Given the description of an element on the screen output the (x, y) to click on. 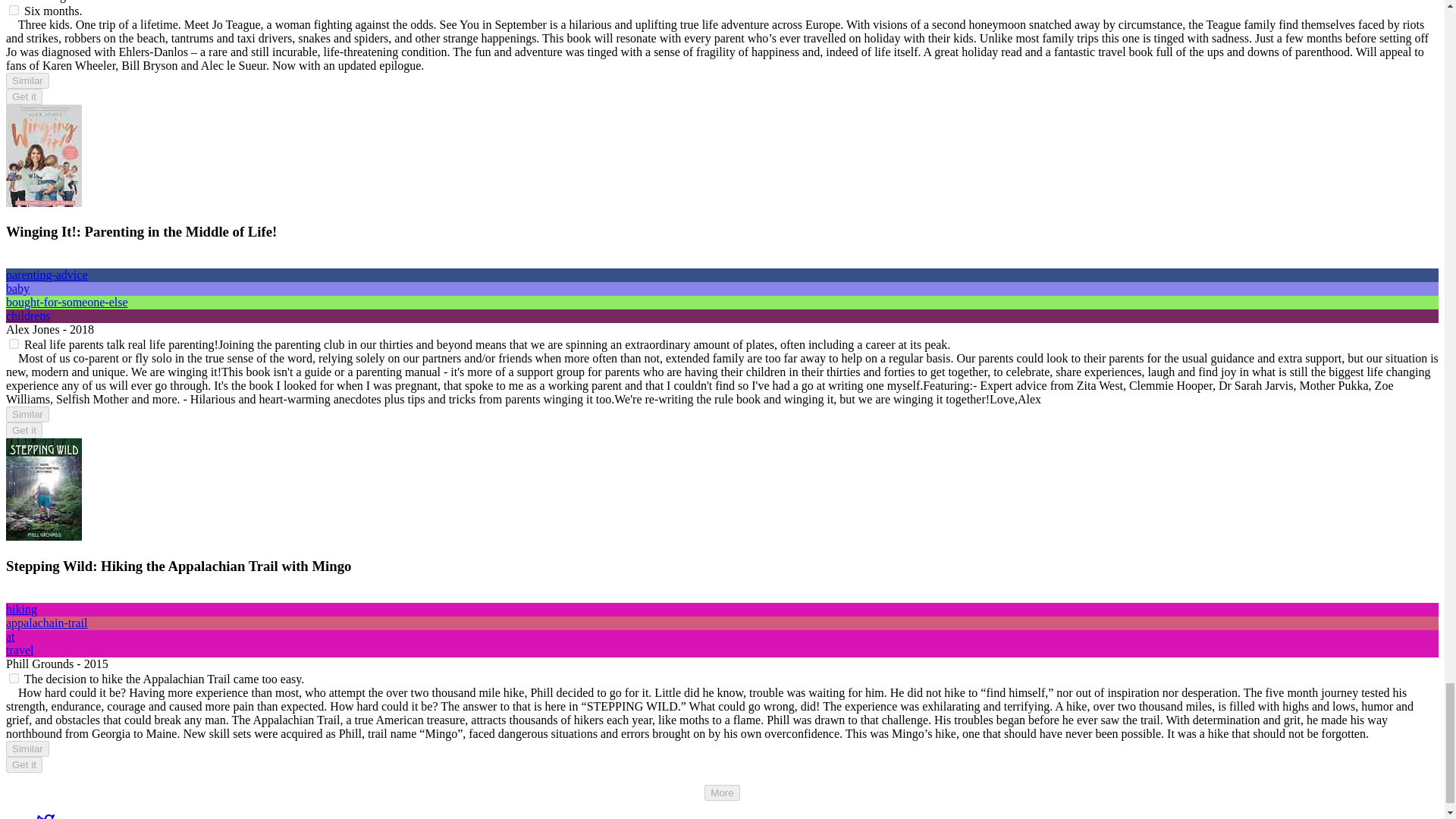
on (13, 678)
on (13, 9)
on (13, 343)
